Given the description of an element on the screen output the (x, y) to click on. 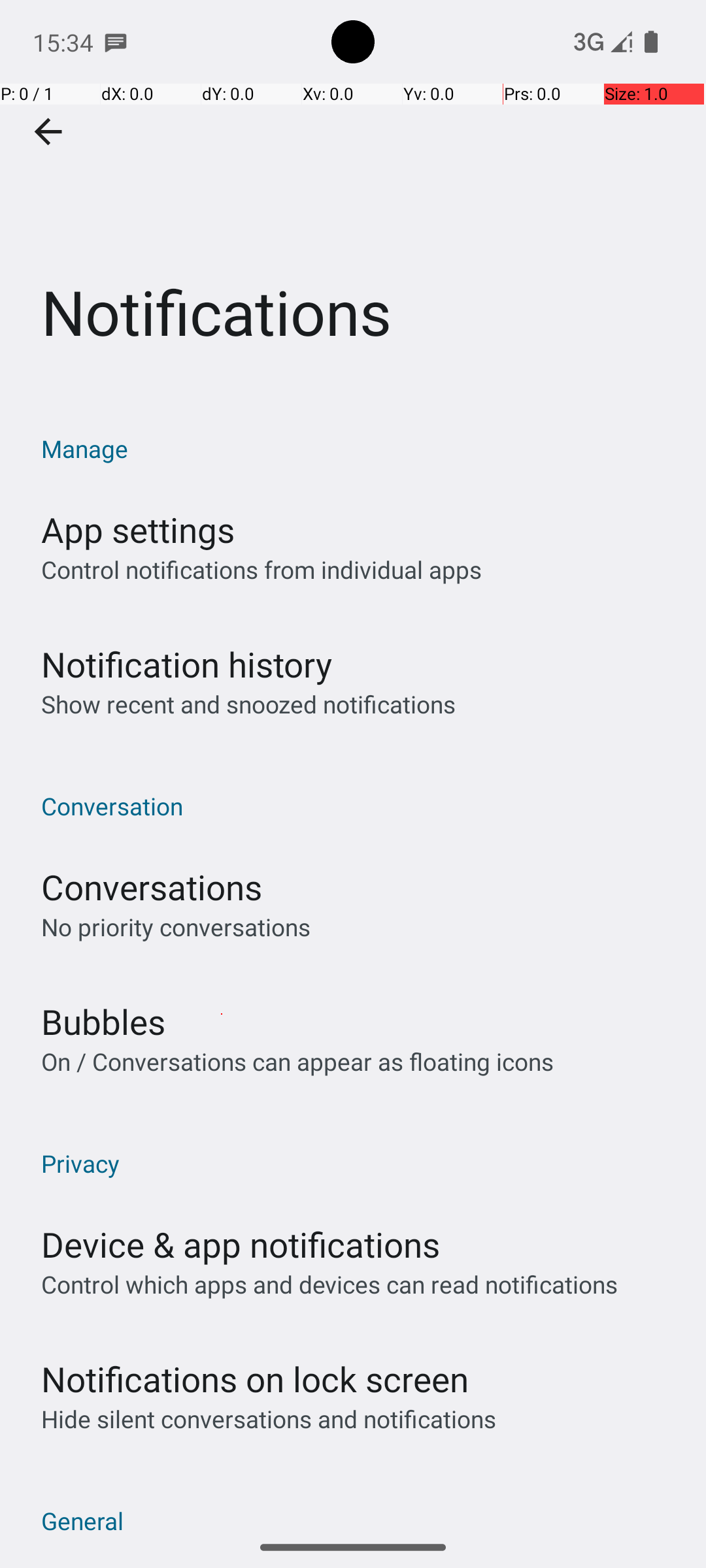
On / Conversations can appear as floating icons Element type: android.widget.TextView (297, 1061)
Hide silent conversations and notifications Element type: android.widget.TextView (268, 1418)
